Given the description of an element on the screen output the (x, y) to click on. 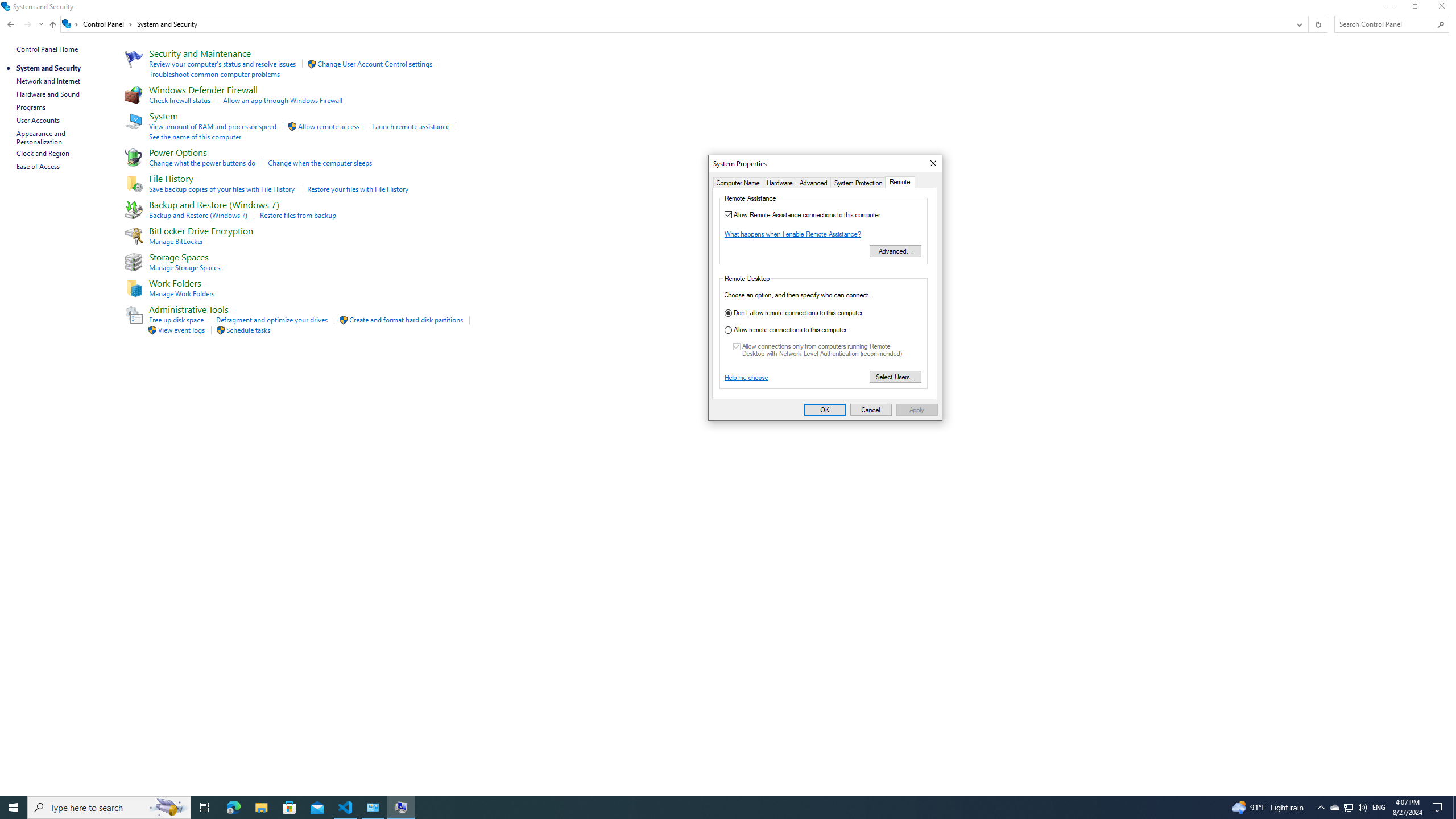
Close (932, 163)
Allow remote connections to this computer (808, 329)
Select Users... (895, 376)
System Remote Settings - 1 running window (400, 807)
Remote (900, 182)
Allow Remote Assistance connections to this computer (824, 214)
Help me choose (746, 376)
